Given the description of an element on the screen output the (x, y) to click on. 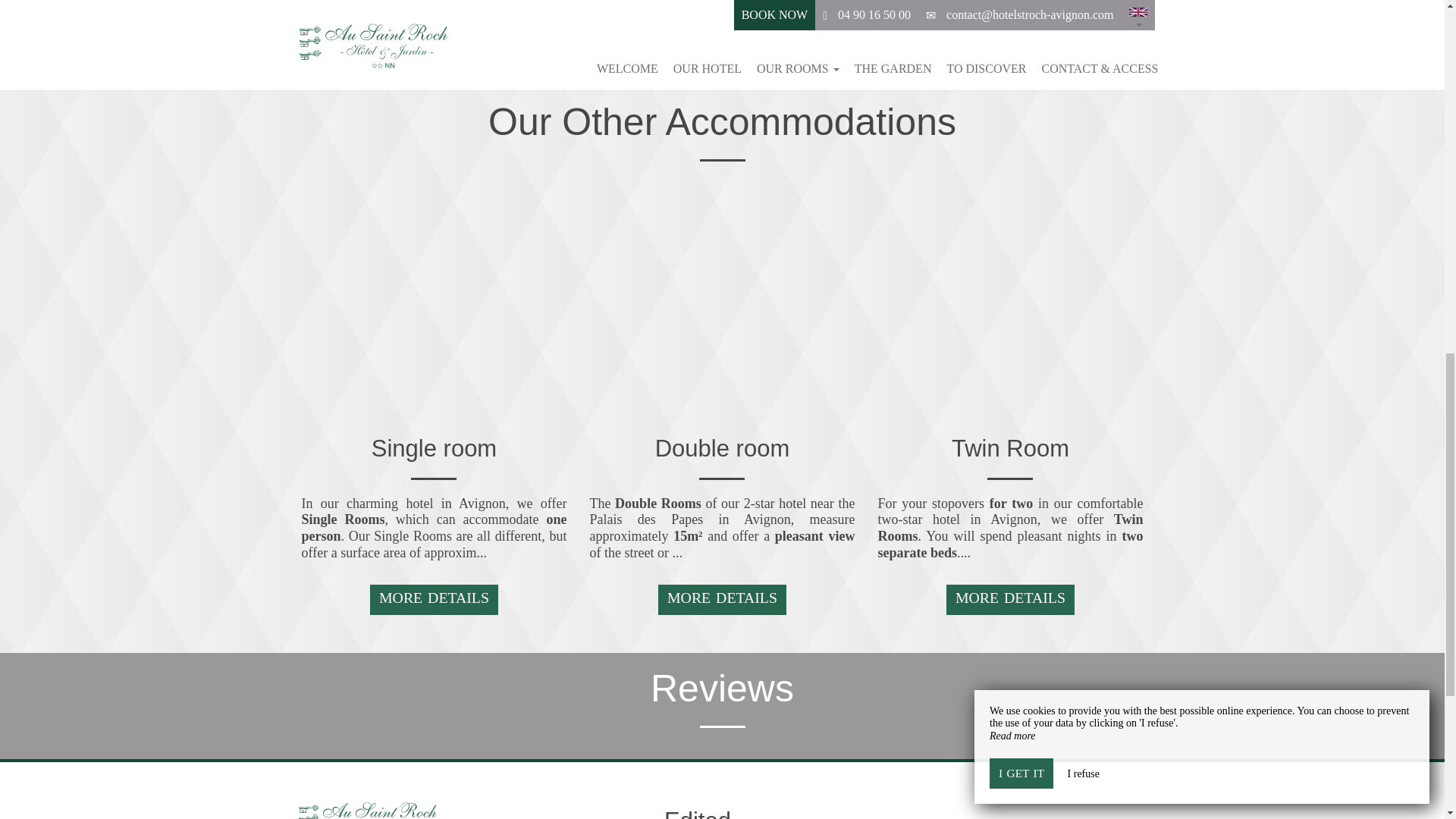
MORE DETAILS (1010, 599)
MORE DETAILS (722, 599)
BOOK (1009, 9)
MORE DETAILS (433, 599)
